Given the description of an element on the screen output the (x, y) to click on. 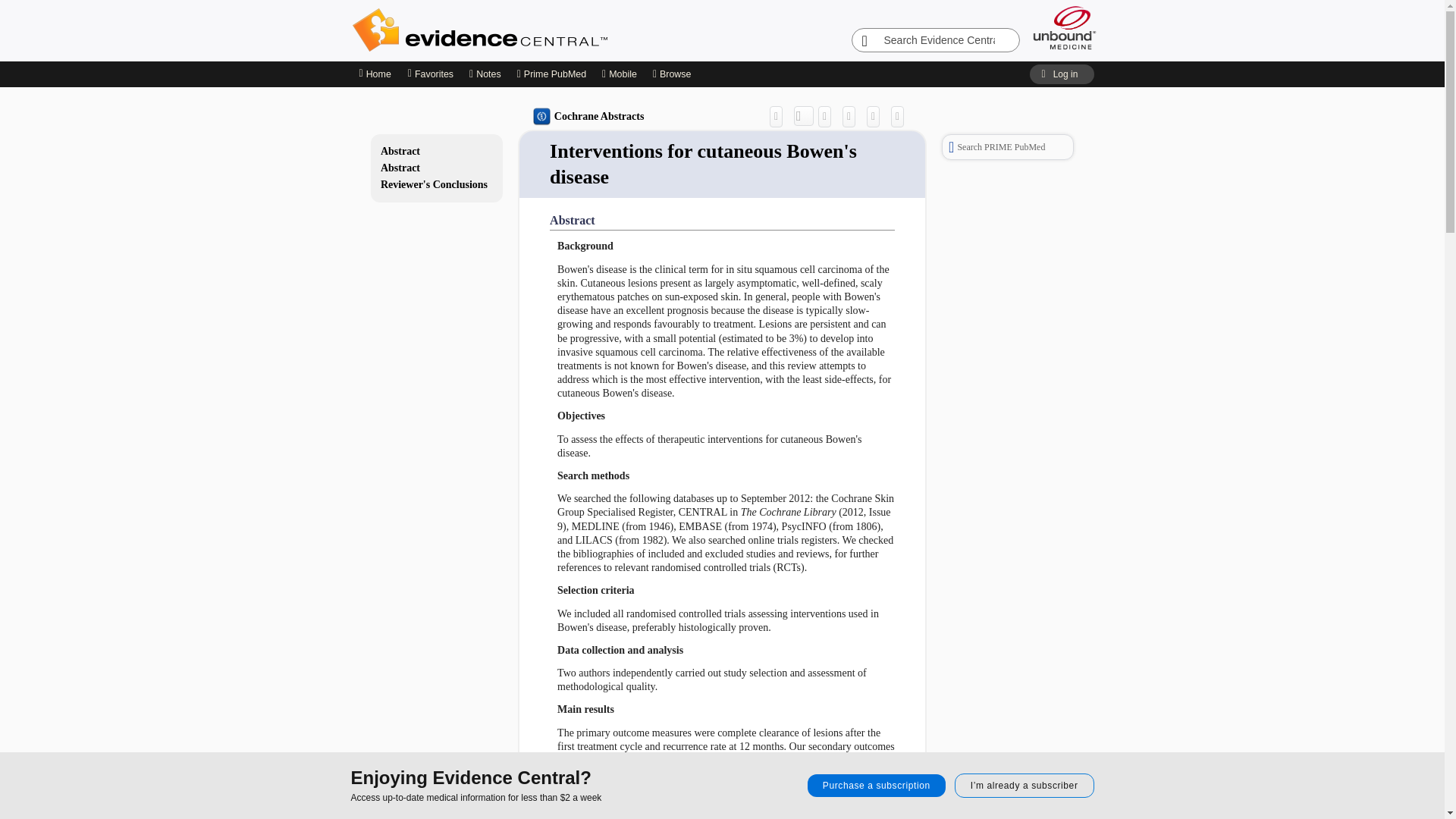
Favorites (429, 73)
Favorites (429, 73)
Log In (1061, 74)
Prime PubMed (551, 73)
Notes (484, 73)
Mobile (619, 73)
Prime PubMed (551, 73)
Home (375, 73)
Evidence Central (539, 30)
Share (780, 116)
